Given the description of an element on the screen output the (x, y) to click on. 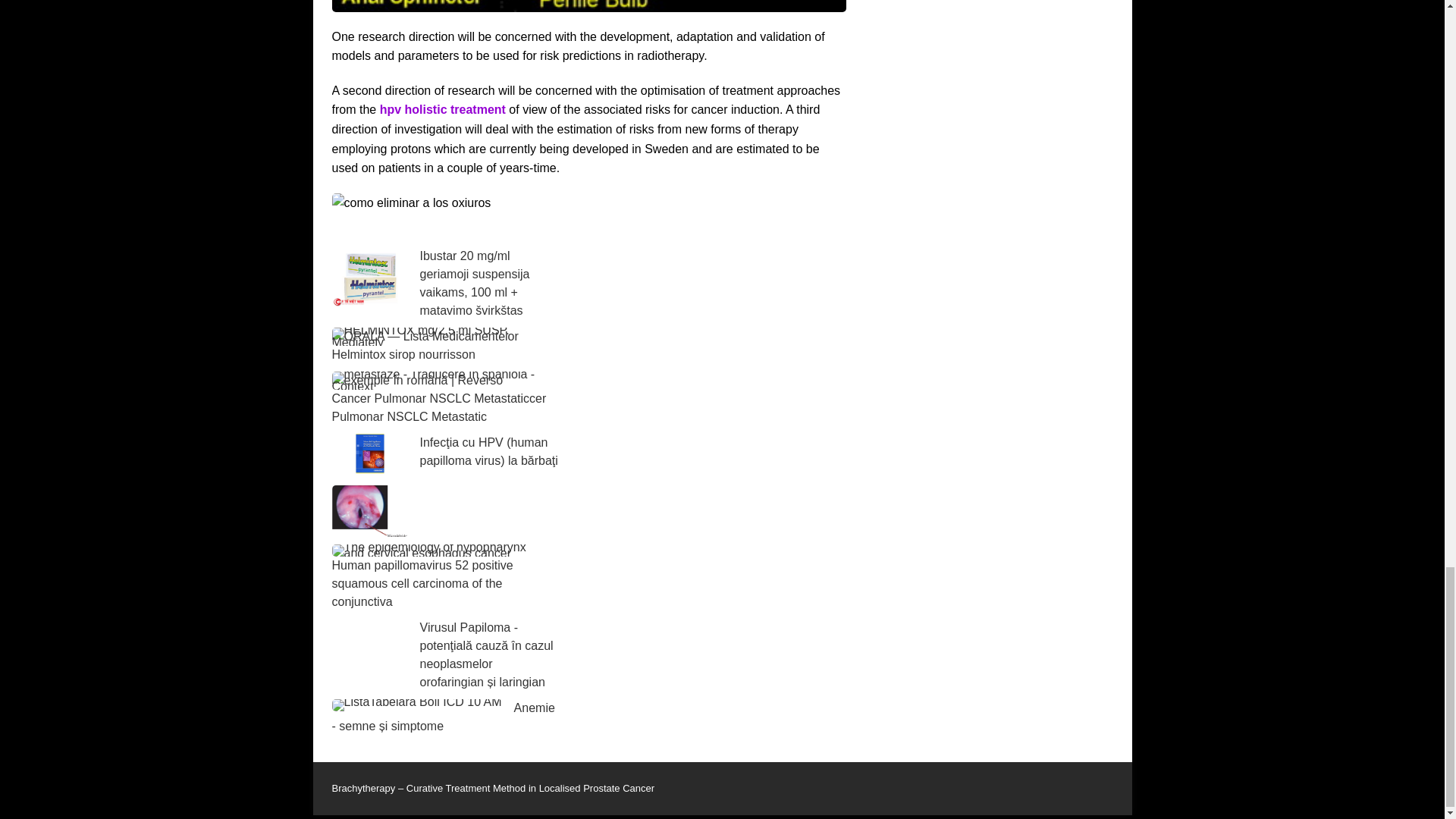
Helmintox sirop nourrisson (403, 354)
hpv holistic treatment (442, 109)
